Given the description of an element on the screen output the (x, y) to click on. 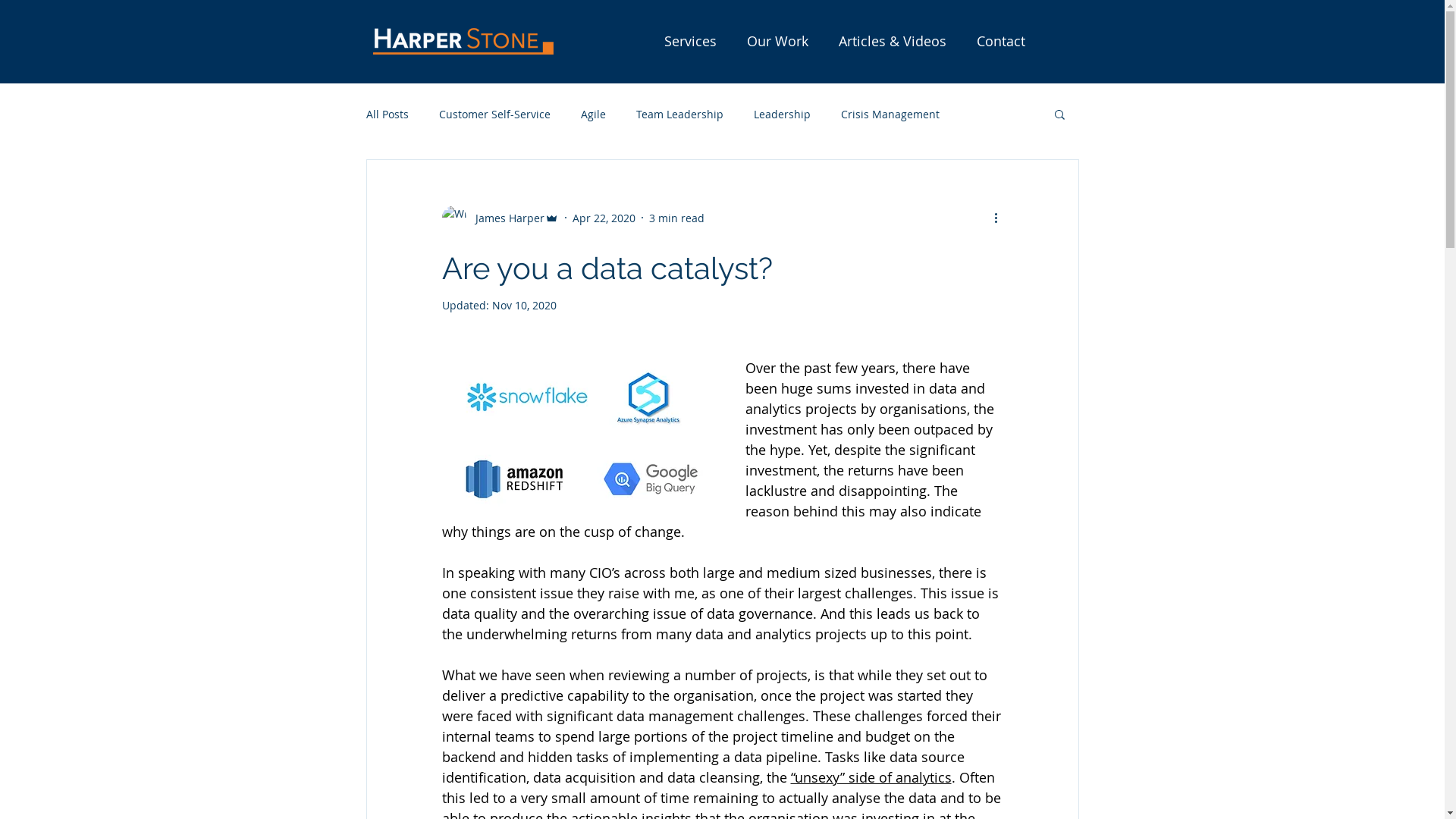
Leadership Element type: text (781, 113)
Customer Self-Service Element type: text (493, 113)
All Posts Element type: text (386, 113)
Articles & Videos Element type: text (892, 41)
Agile Element type: text (592, 113)
Team Leadership Element type: text (678, 113)
James Harper Element type: text (499, 217)
Crisis Management Element type: text (889, 113)
Contact Element type: text (1000, 41)
